Given the description of an element on the screen output the (x, y) to click on. 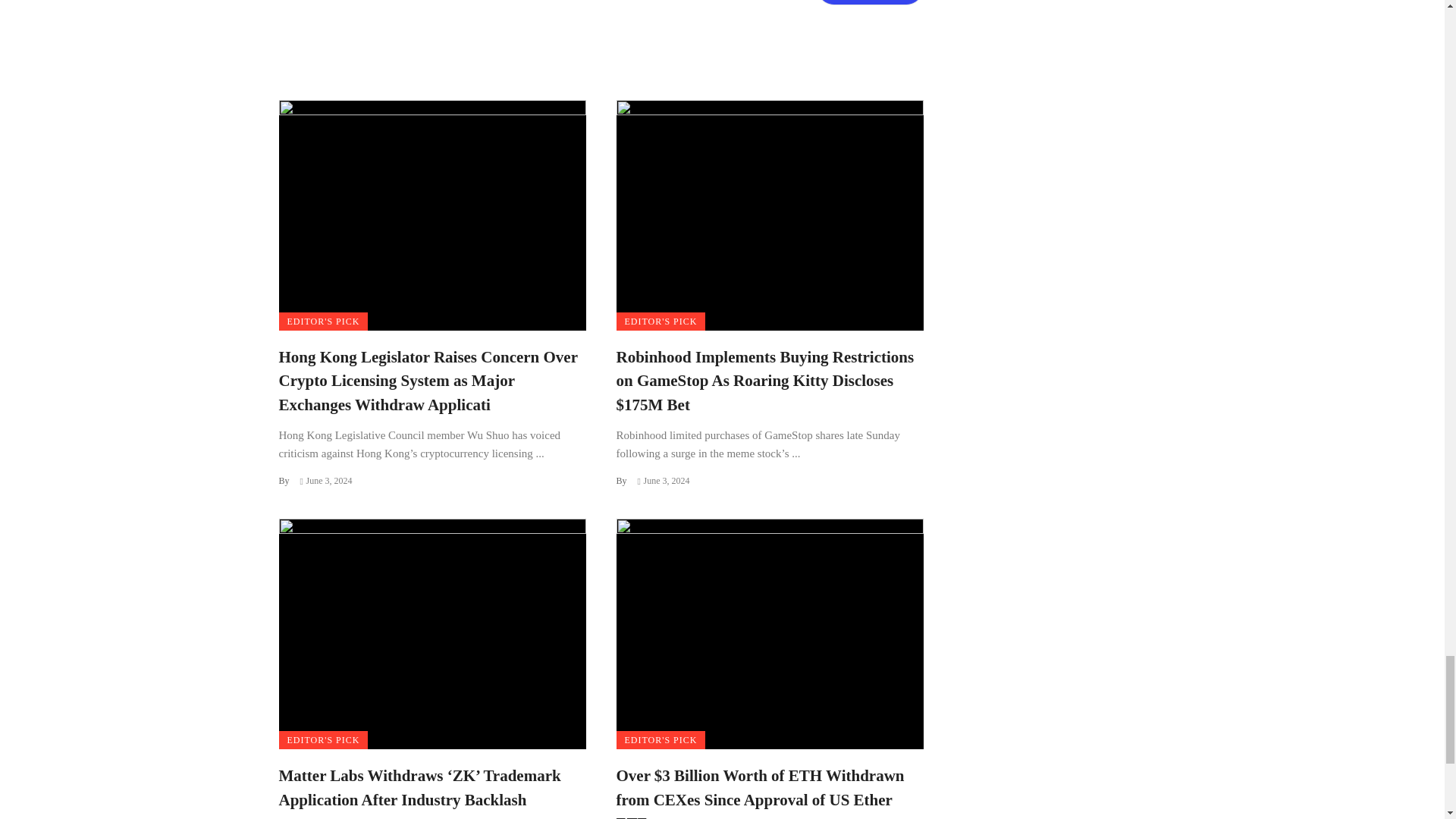
Post Comment (869, 2)
